Given the description of an element on the screen output the (x, y) to click on. 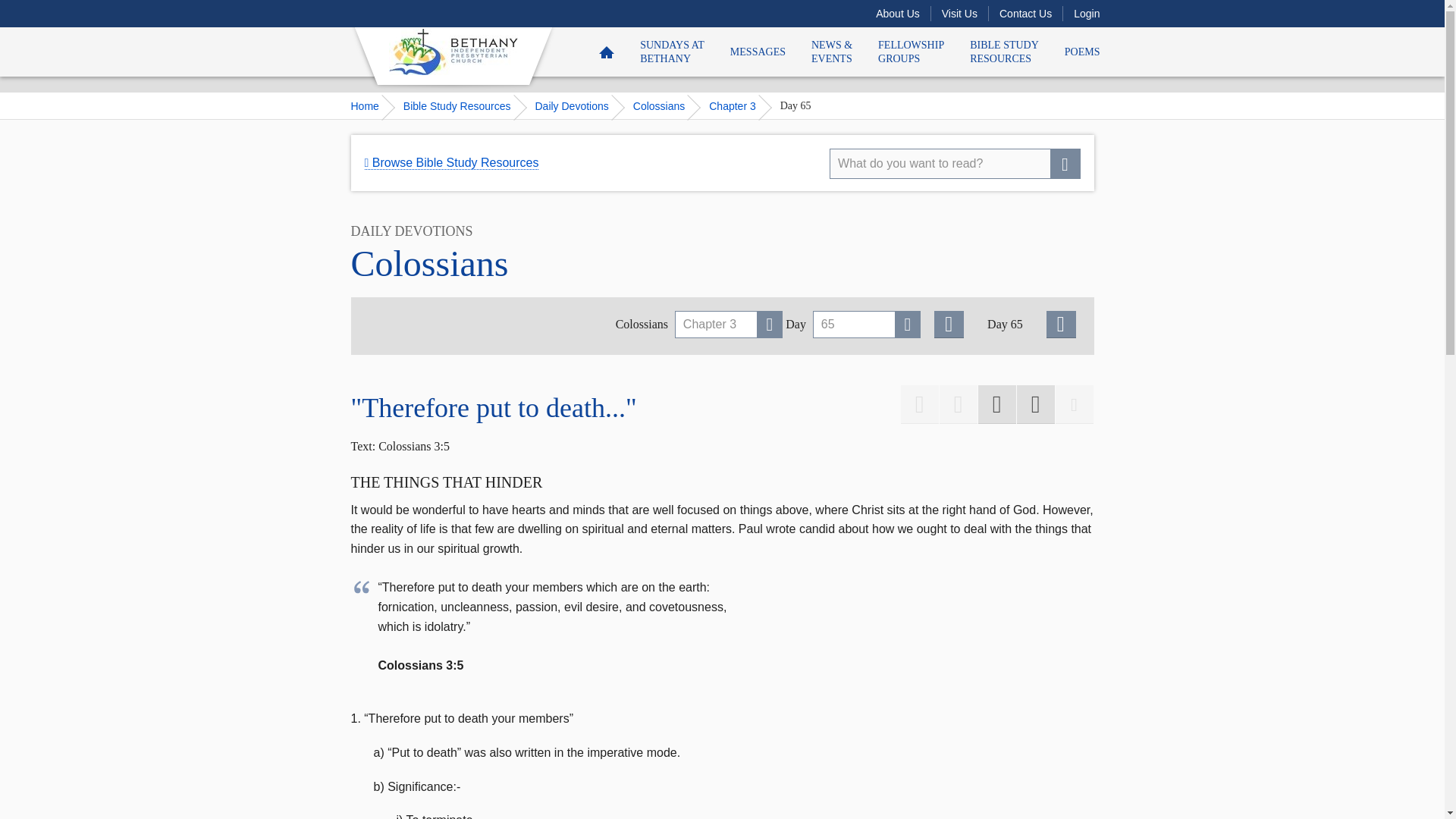
Chapter 3 (738, 105)
Bible Study Resources (462, 105)
Daily Devotions (578, 105)
Colossians (665, 105)
